Given the description of an element on the screen output the (x, y) to click on. 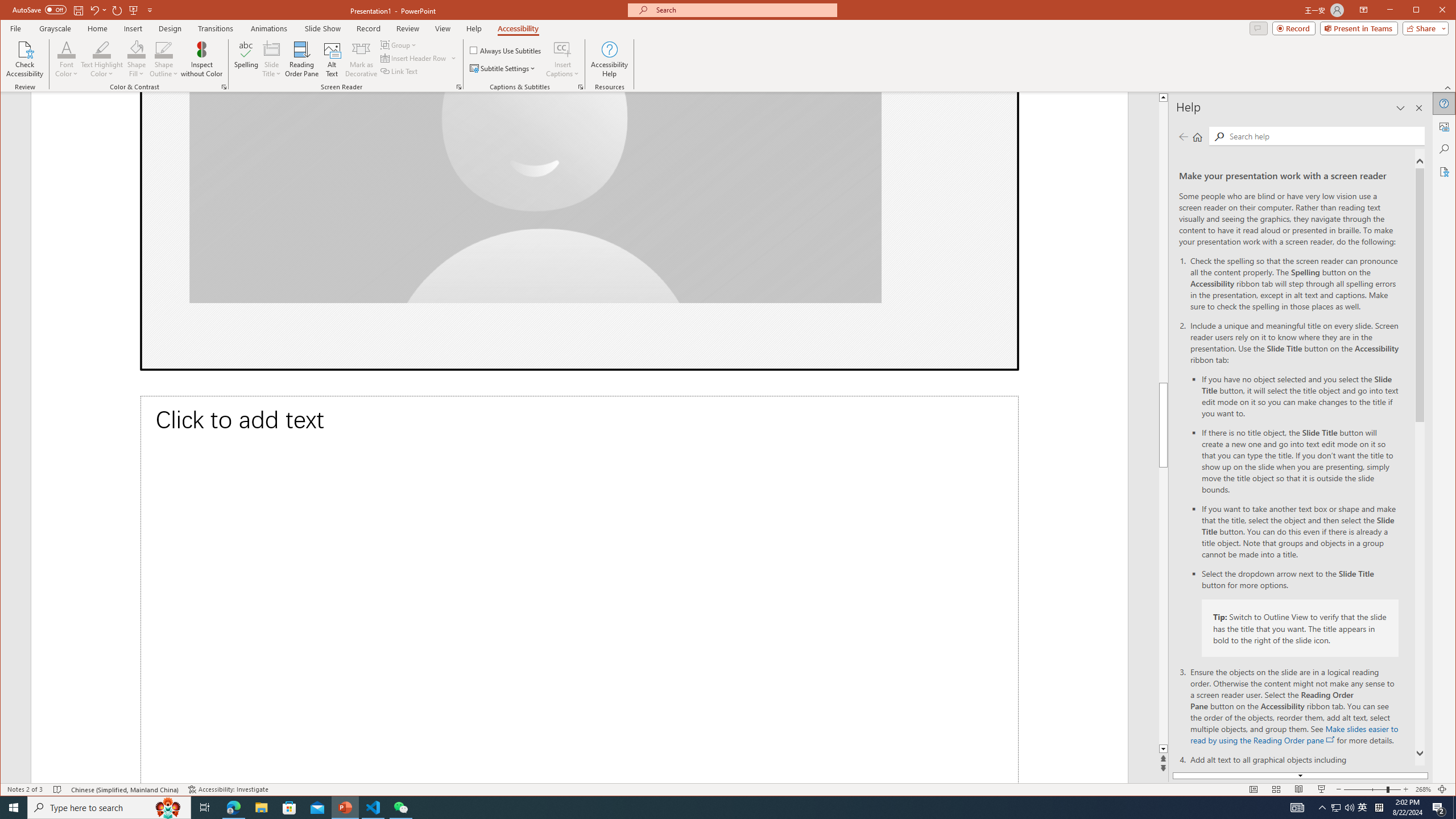
Font Color (66, 48)
Insert Header Row (413, 57)
Shape Outline (163, 59)
File Explorer (261, 807)
Microsoft search (742, 10)
Maximize (1432, 11)
Microsoft Store (289, 807)
Grayscale (55, 28)
